Given the description of an element on the screen output the (x, y) to click on. 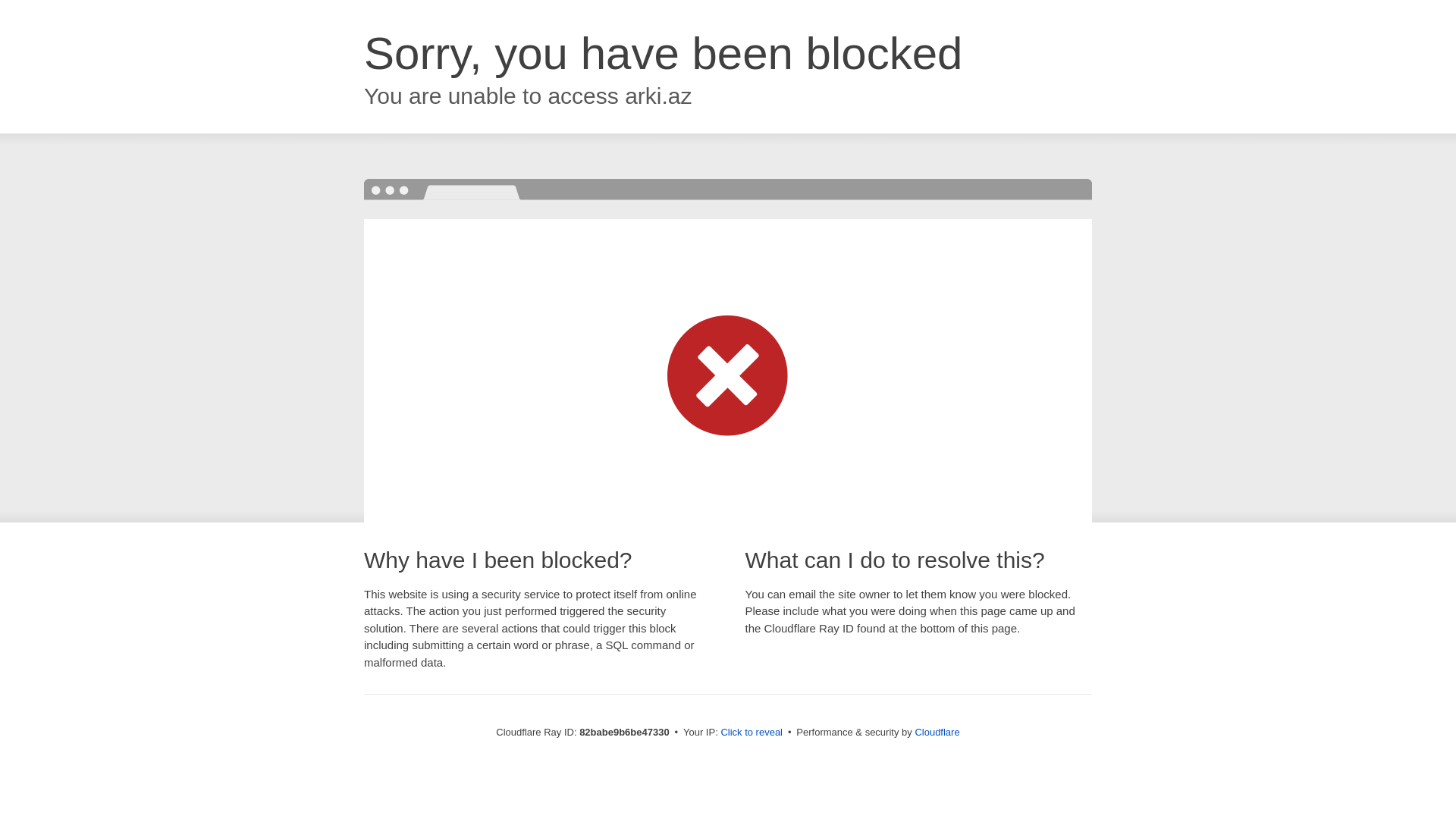
Cloudflare Element type: text (936, 731)
Click to reveal Element type: text (751, 732)
